Given the description of an element on the screen output the (x, y) to click on. 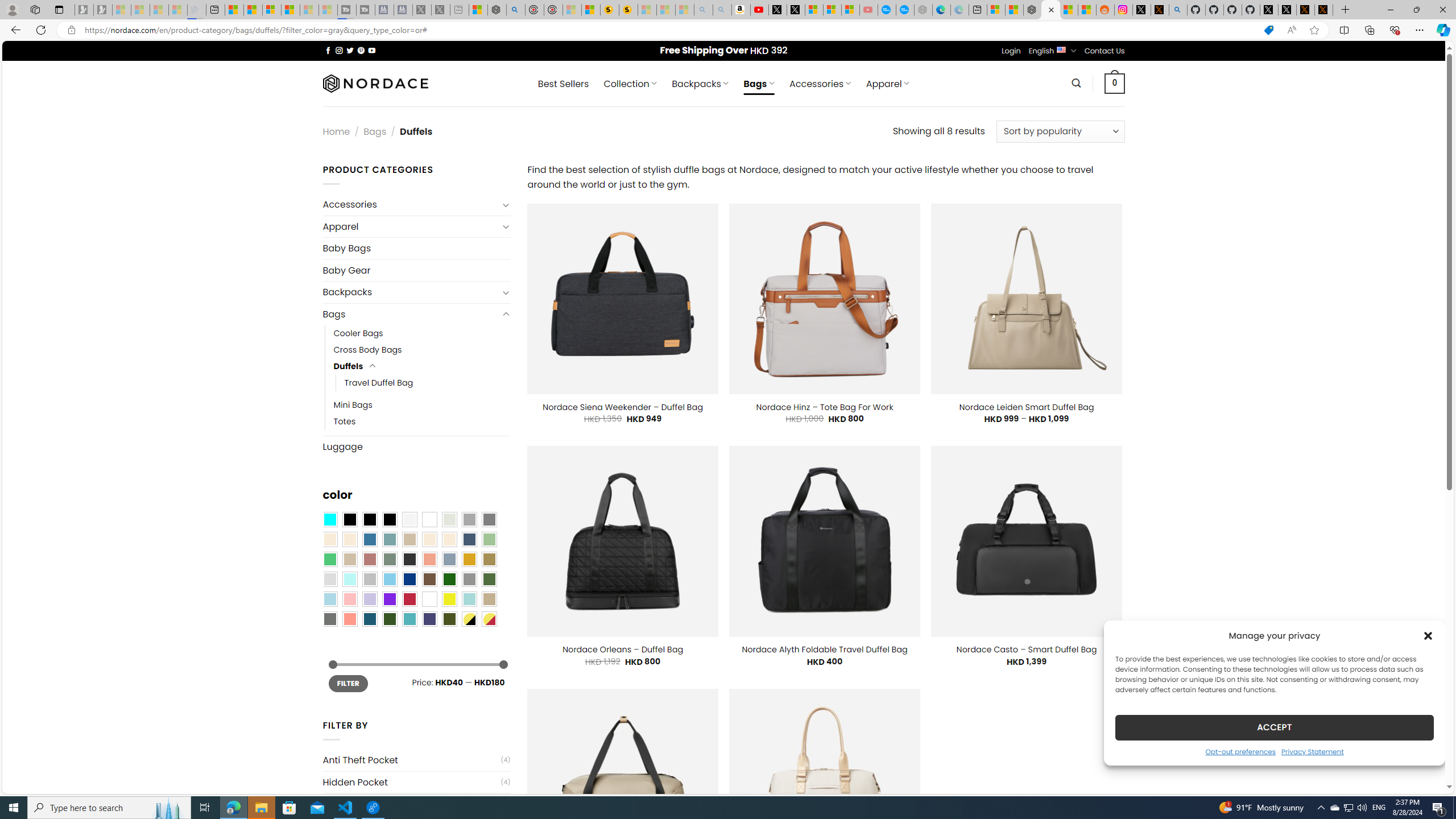
Beige-Brown (349, 539)
Microsoft Start - Sleeping (309, 9)
Blue Sage (389, 539)
Army Green (449, 618)
Follow on YouTube (371, 49)
Black (369, 519)
Green (488, 579)
Pearly White (408, 519)
Ash Gray (449, 519)
Totes (344, 420)
Clear (429, 519)
Light Gray (329, 579)
